Given the description of an element on the screen output the (x, y) to click on. 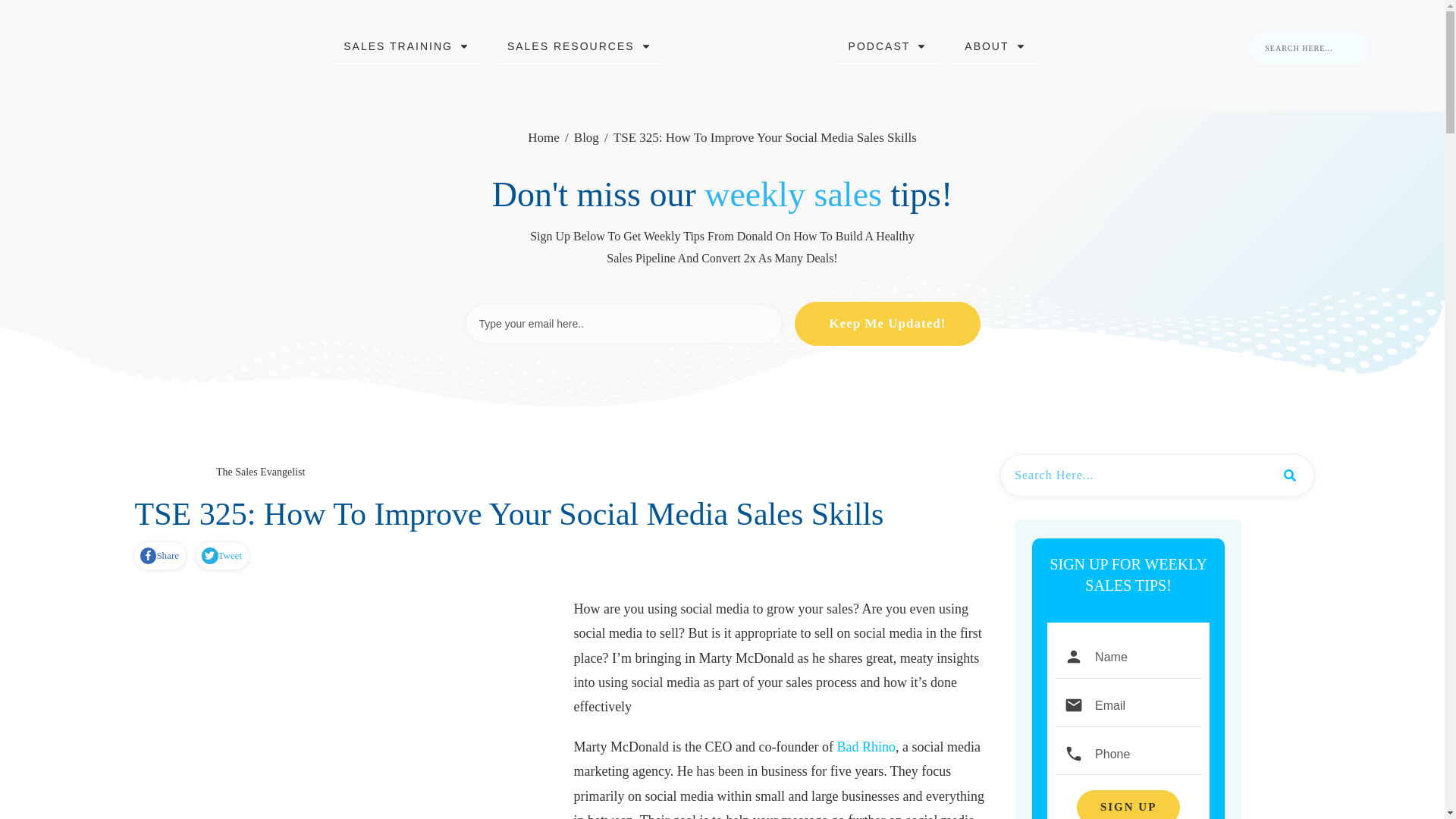
Keep Me Updated! (886, 323)
SALES RESOURCES (578, 46)
Blog (585, 137)
Split Top With Sidebar (151, 472)
Tweet (221, 555)
Share (159, 555)
TSE 325: How To Improve Your Social Media Sales Skills (509, 513)
SALES TRAINING (405, 46)
Bad Rhino (865, 746)
PODCAST (887, 46)
ABOUT (994, 46)
TSE 325: How To Improve Your Social Media Sales Skills (509, 513)
Home (543, 137)
